Given the description of an element on the screen output the (x, y) to click on. 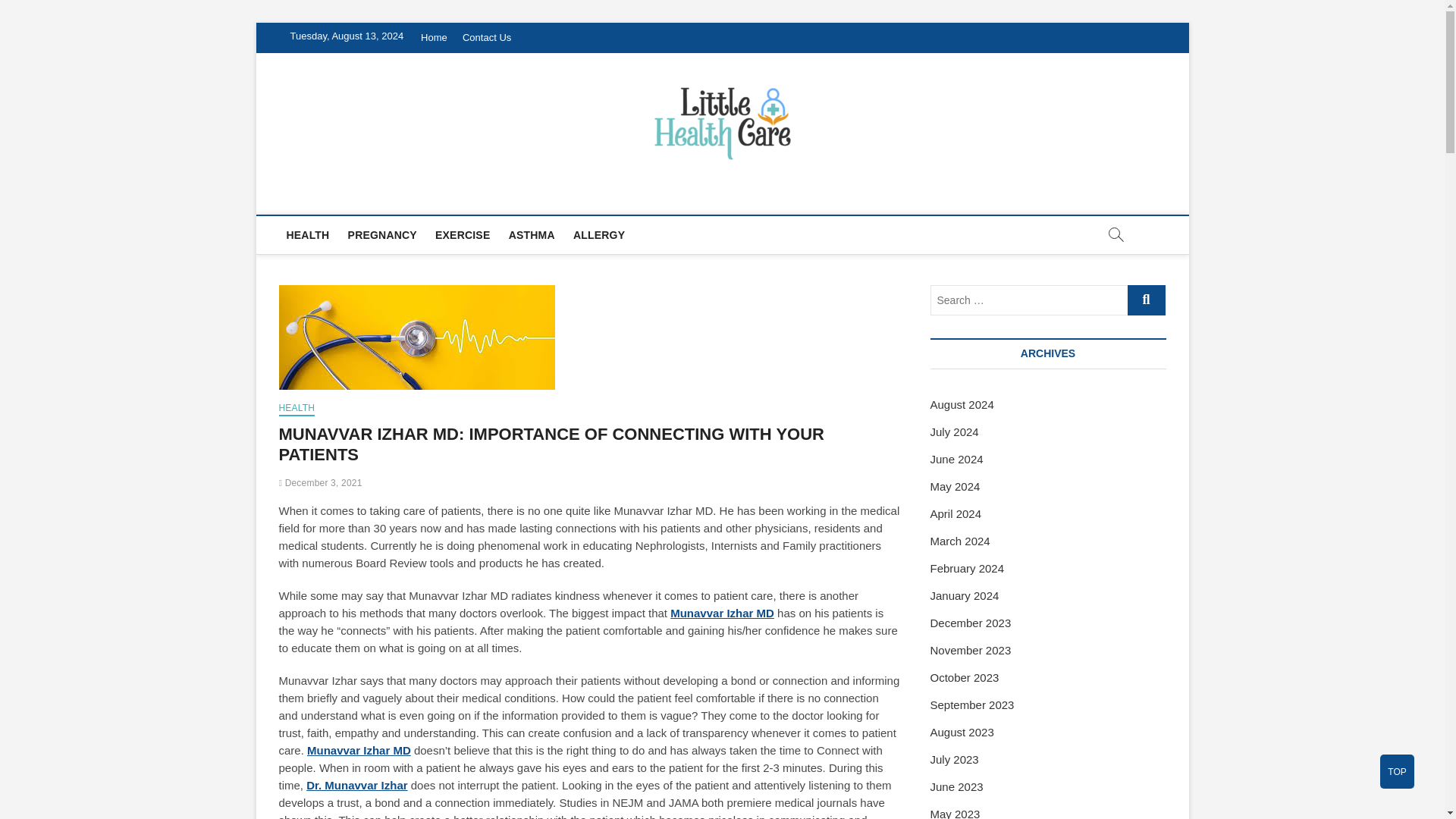
February 2024 (967, 567)
October 2023 (964, 676)
June 2024 (956, 459)
August 2024 (961, 404)
Little Health Care (391, 196)
Dr. Munavvar Izhar (356, 784)
December 3, 2021 (320, 482)
ALLERGY (598, 234)
December 2023 (970, 622)
